Given the description of an element on the screen output the (x, y) to click on. 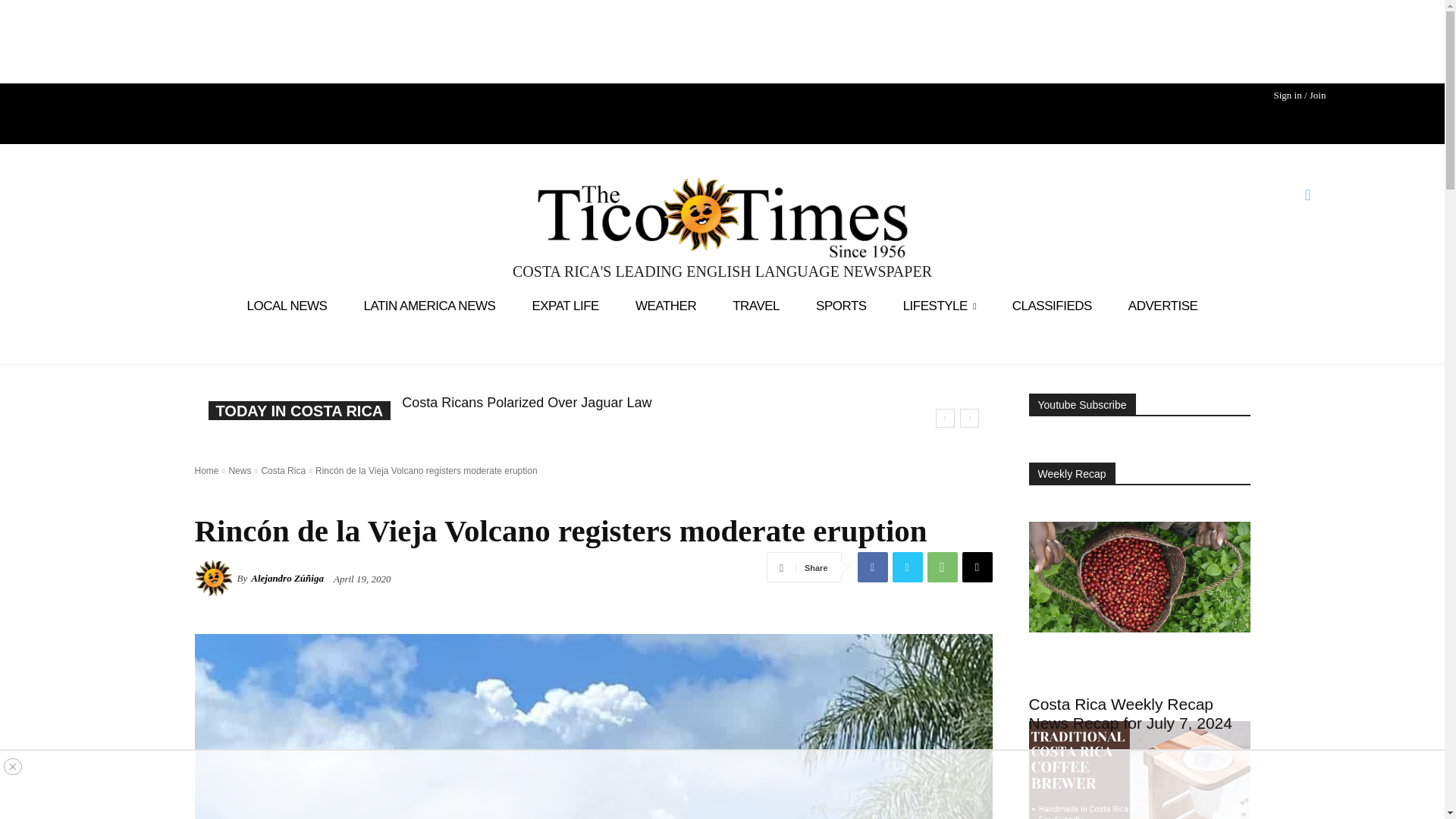
View all posts in Costa Rica (282, 470)
ADVERTISE (1162, 305)
WEATHER (665, 305)
CLASSIFIEDS (1051, 305)
LOCAL NEWS (287, 305)
SPORTS (841, 305)
Costa Ricans Polarized Over Jaguar Law (525, 402)
TRAVEL (755, 305)
LIFESTYLE (939, 305)
Costa Ricans Polarized Over Jaguar Law (525, 402)
View all posts in News (239, 470)
LATIN AMERICA NEWS (429, 305)
EXPAT LIFE (565, 305)
